Given the description of an element on the screen output the (x, y) to click on. 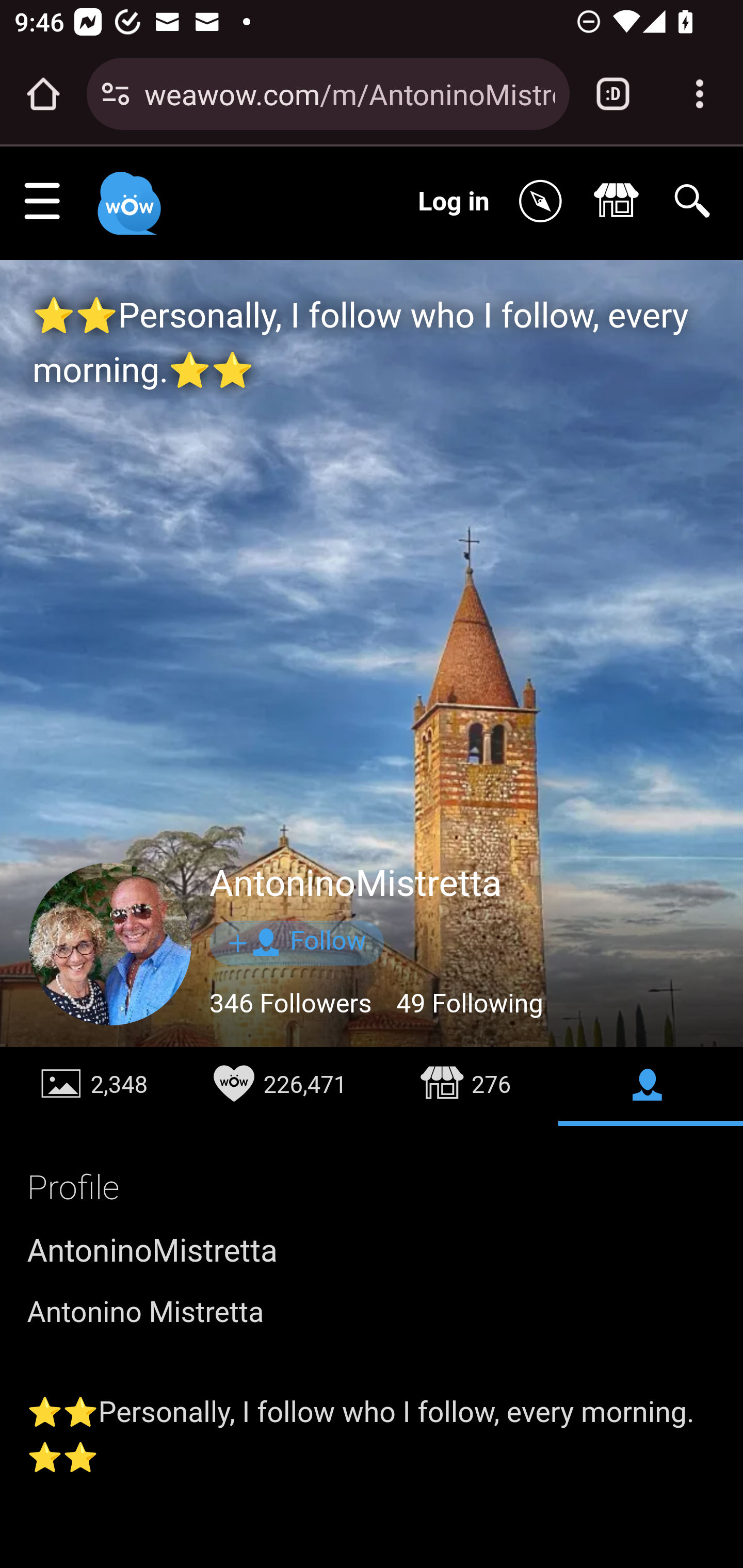
Open the home page (43, 93)
Connection is secure (115, 93)
Switch or close tabs (612, 93)
Customize and control Google Chrome (699, 93)
weawow.com/m/AntoninoMistretta/profile (349, 92)
Weawow (127, 194)
 (545, 201)
 (621, 201)
Log in (453, 201)
znrcnfdYPS196644 (110, 944)
AntoninoMistretta (355, 883)
346 Followers 346  Followers (291, 1004)
49 Following 49  Following (469, 1004)
 2,348  2,348 (93, 1086)
 226,471  226,471 (278, 1086)
 276  276 (465, 1086)
 (649, 1086)
